Given the description of an element on the screen output the (x, y) to click on. 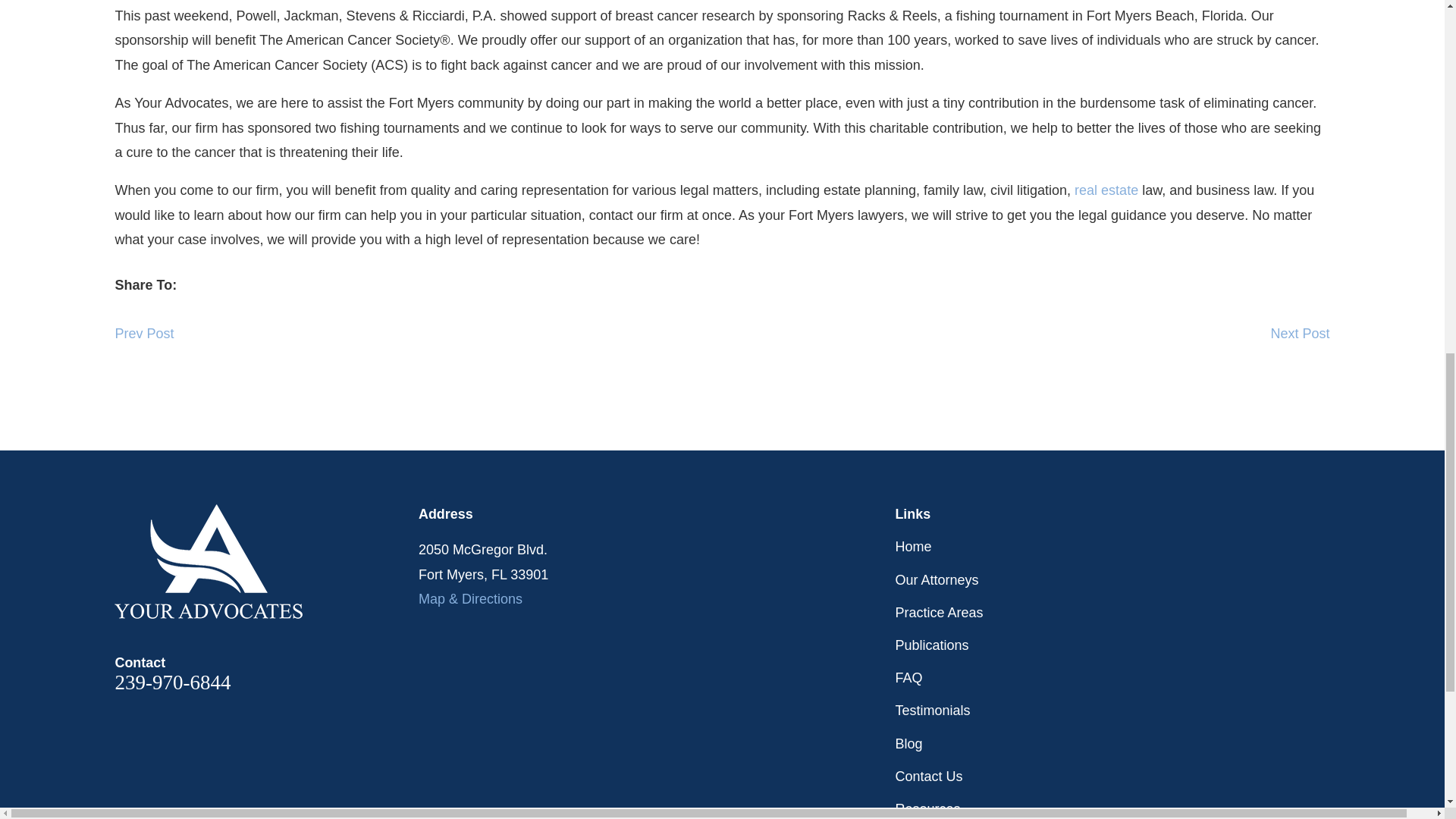
Your Advocates (208, 561)
Home (267, 561)
